Given the description of an element on the screen output the (x, y) to click on. 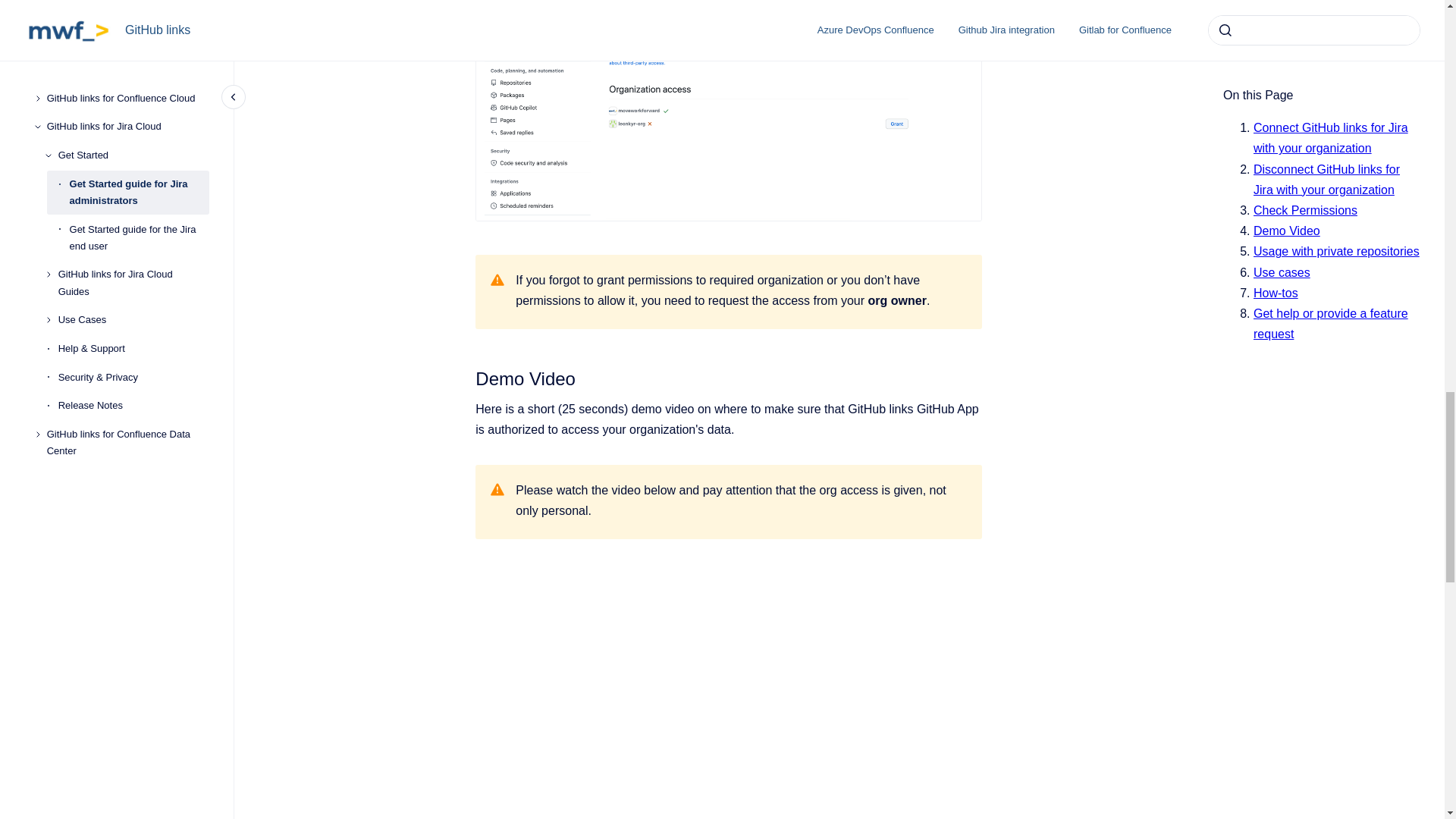
Copy to clipboard (468, 377)
